Given the description of an element on the screen output the (x, y) to click on. 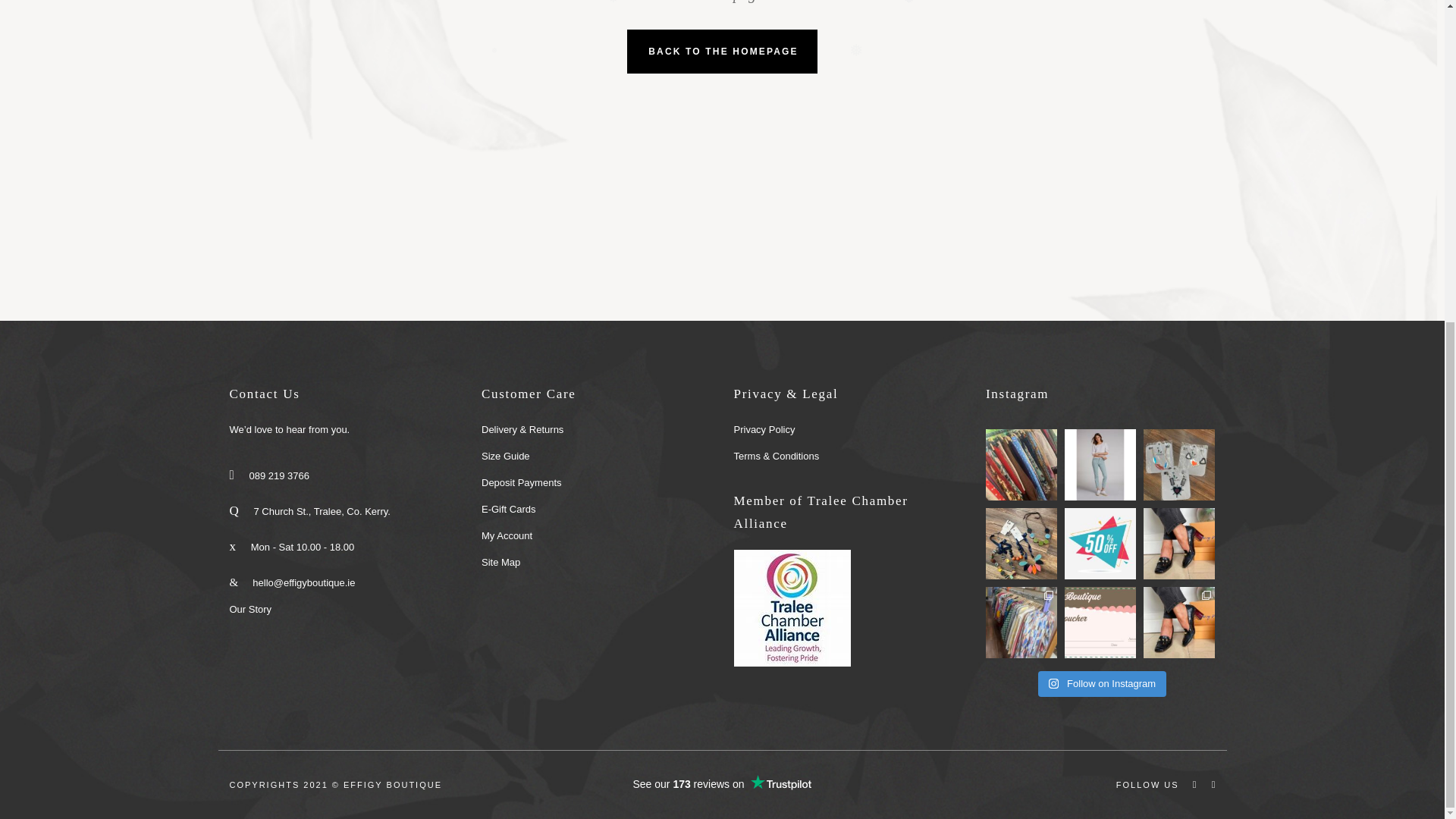
Member of Tralee Chamber Alliance (791, 607)
Customer reviews powered by Trustpilot (721, 783)
